Given the description of an element on the screen output the (x, y) to click on. 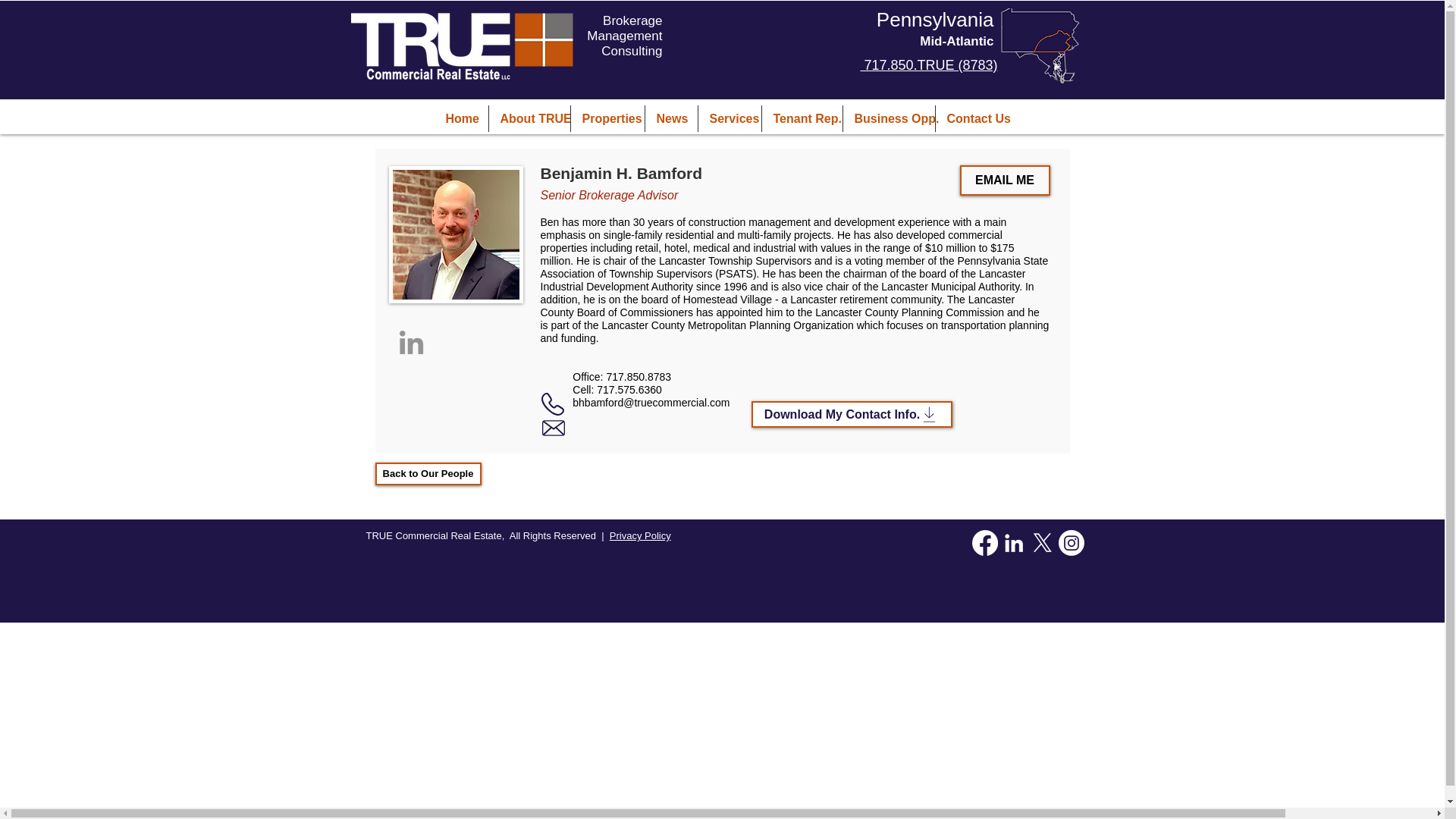
News (671, 118)
Home (460, 118)
Tenant Rep. (801, 118)
EMAIL ME (1004, 180)
Privacy Policy (640, 535)
Business Opp. (888, 118)
Download My Contact Info. (851, 414)
Back to Our People (427, 473)
Properties (606, 118)
Contact Us (973, 118)
